Given the description of an element on the screen output the (x, y) to click on. 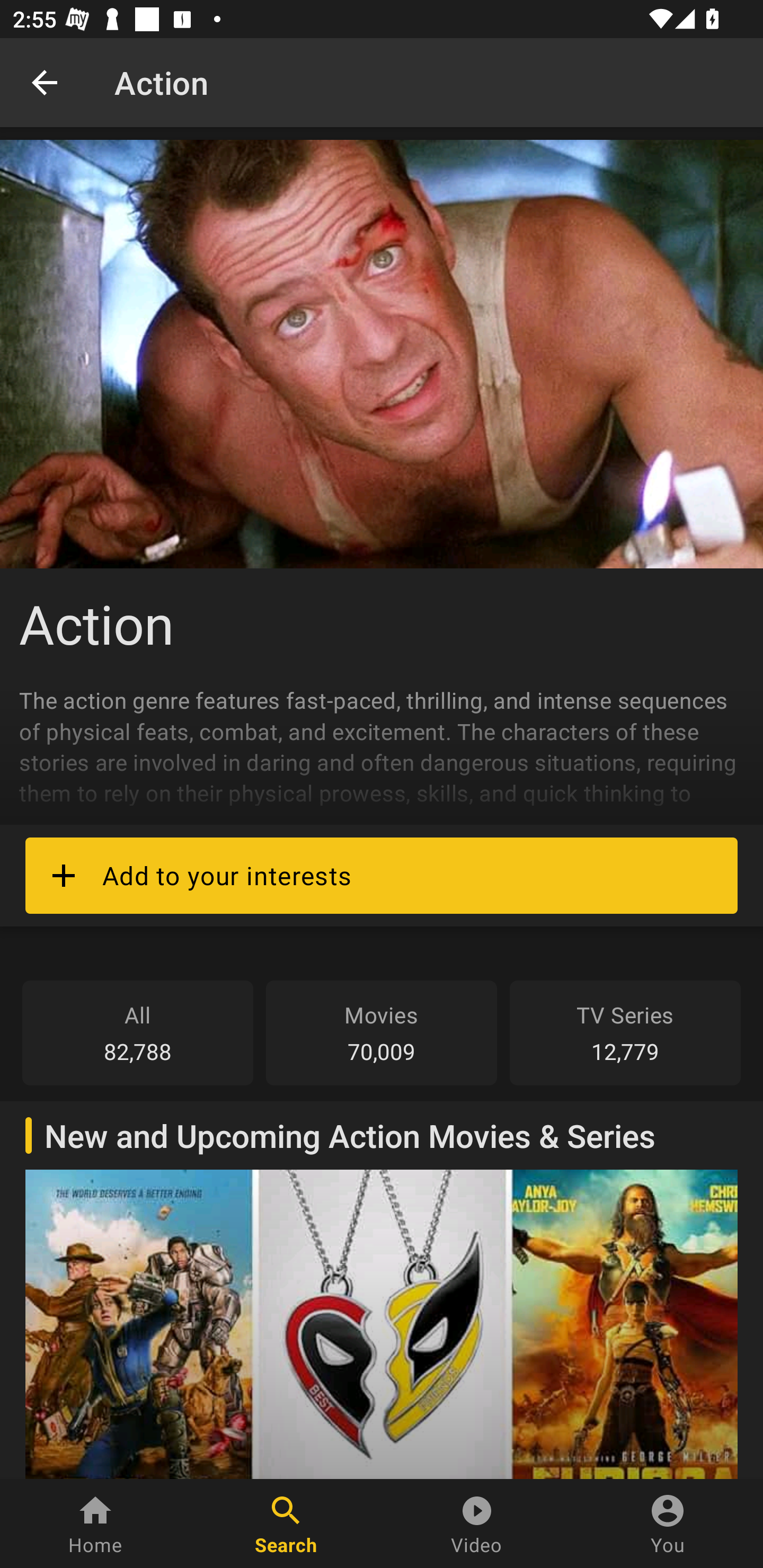
Add to your interests (381, 875)
All 82,788 (137, 1032)
Movies 70,009 (381, 1032)
TV Series 12,779 (624, 1032)
New and Upcoming Action Movies & Series (381, 1289)
Home (95, 1523)
Video (476, 1523)
You (667, 1523)
